Given the description of an element on the screen output the (x, y) to click on. 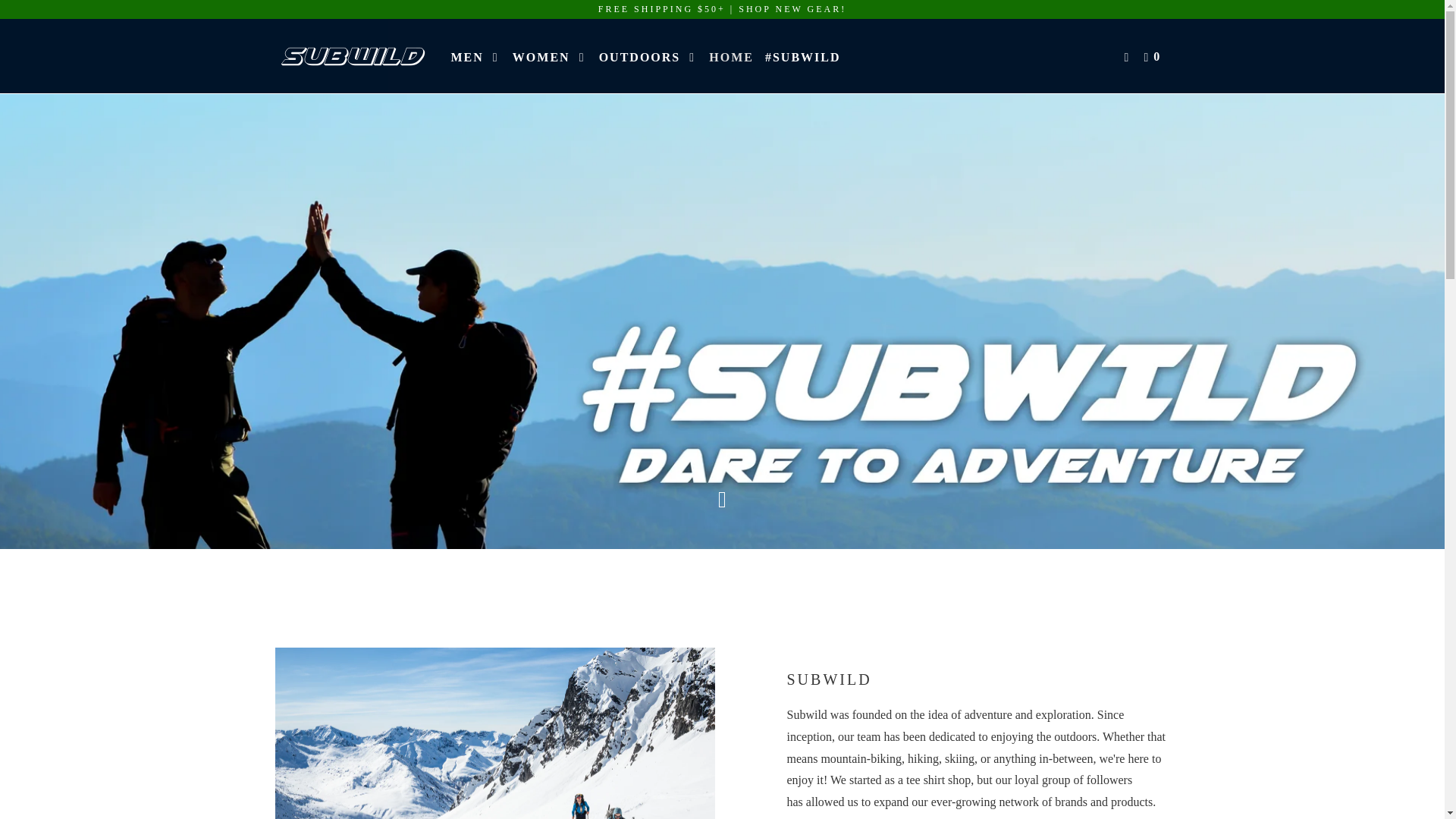
0 (1153, 57)
MEN   (474, 57)
Subwild (352, 55)
